Given the description of an element on the screen output the (x, y) to click on. 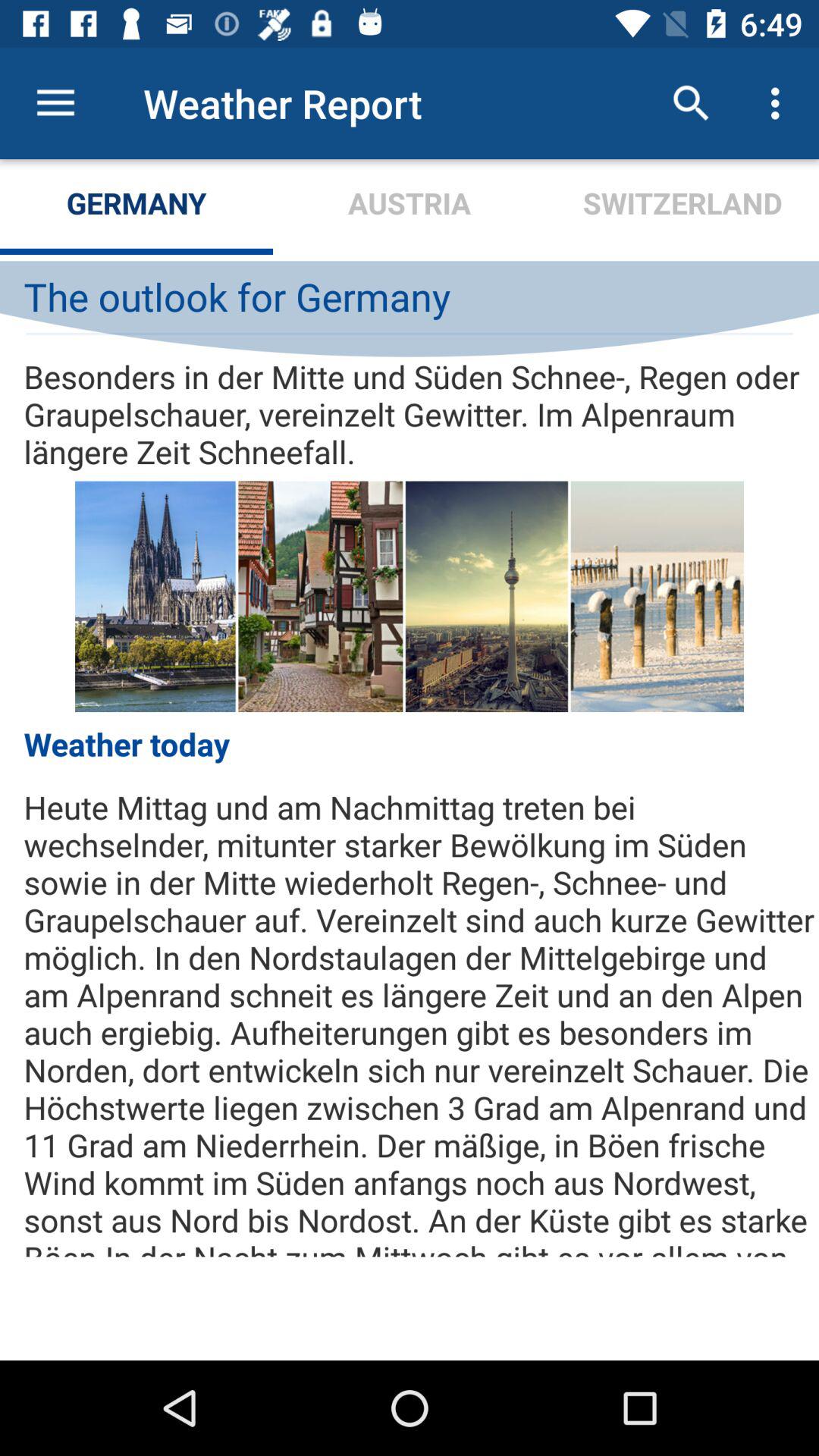
swipe to the switzerland (682, 206)
